Given the description of an element on the screen output the (x, y) to click on. 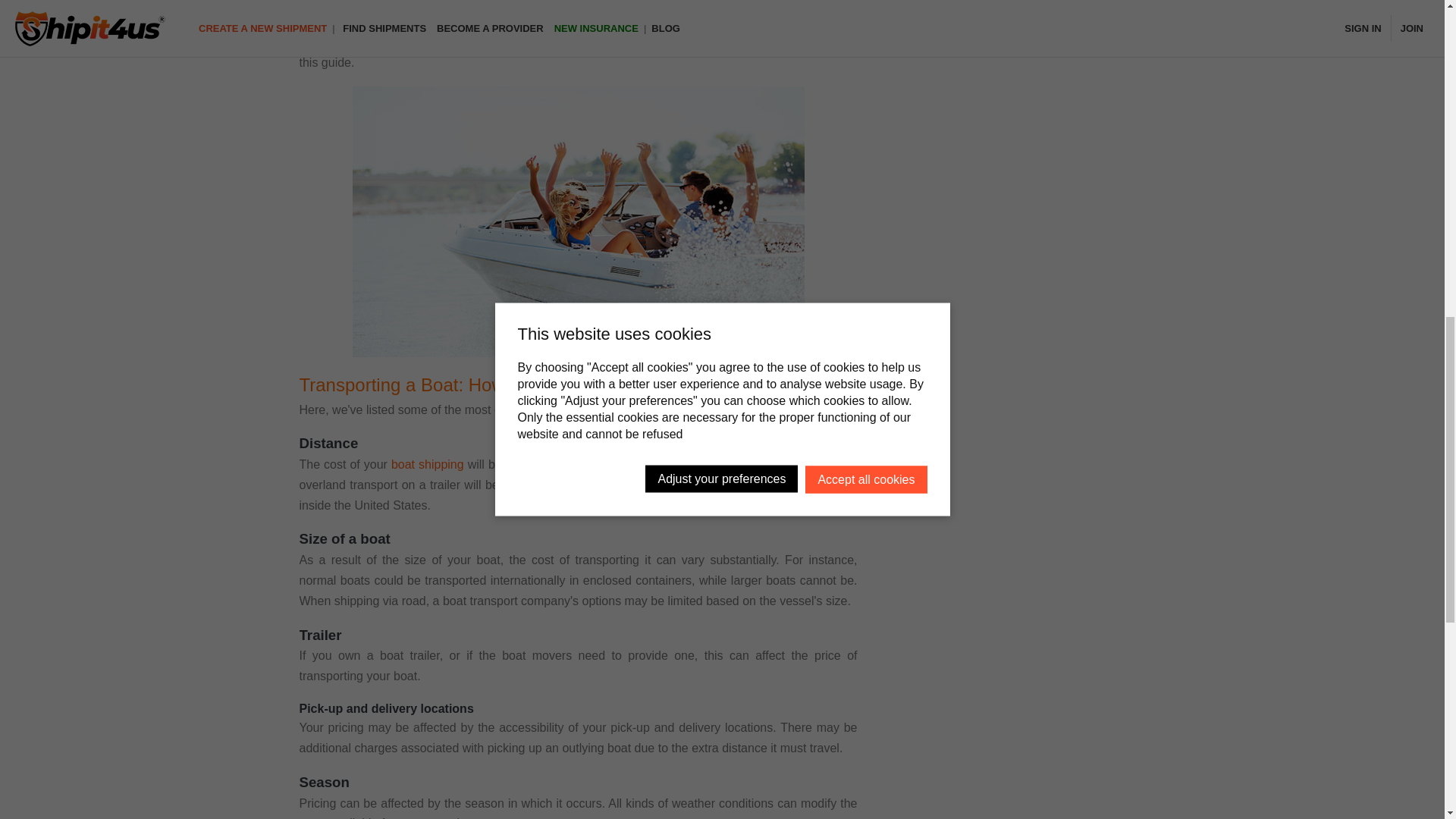
boat shipping (427, 463)
boat transport companies (787, 21)
